Given the description of an element on the screen output the (x, y) to click on. 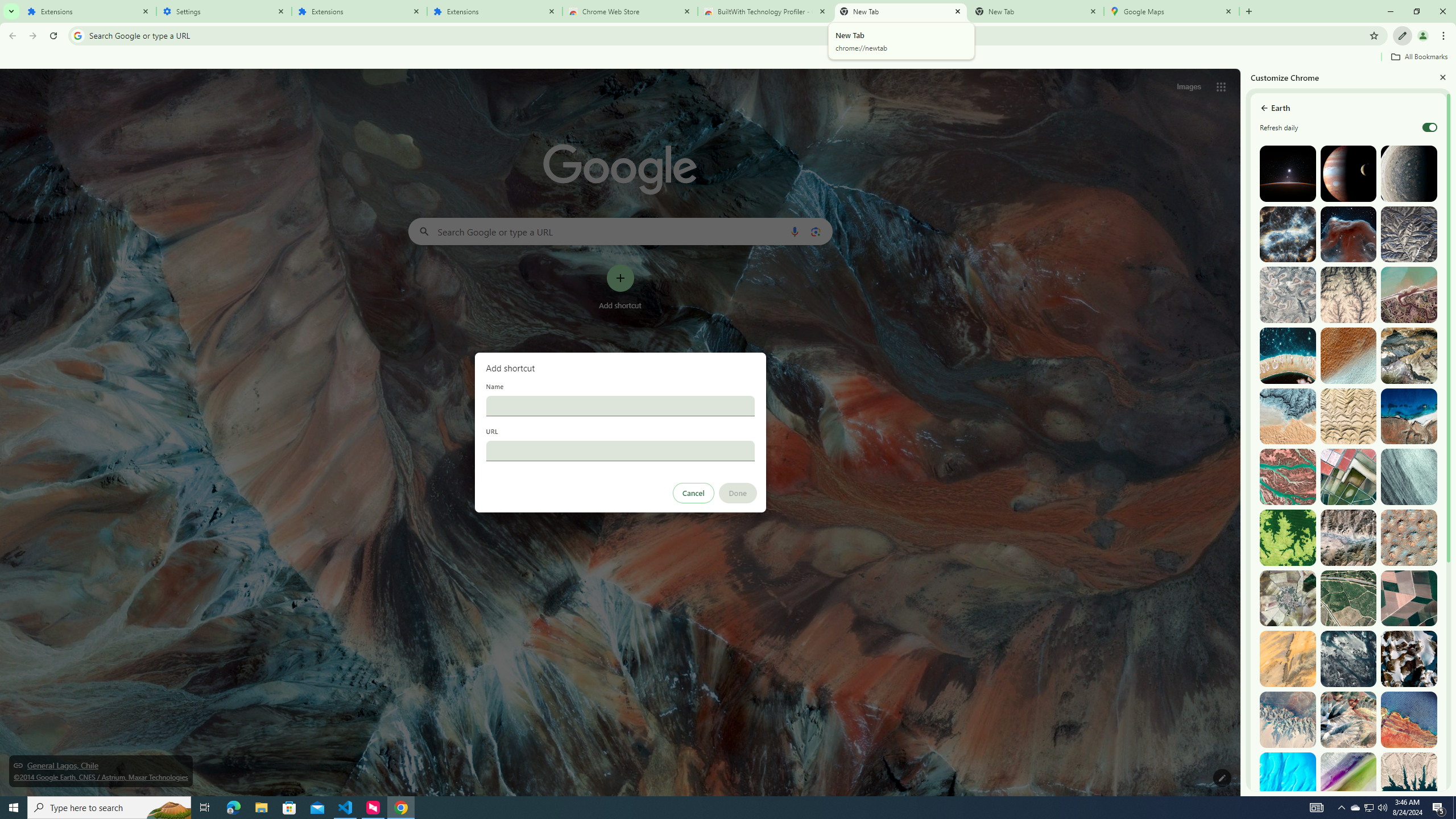
Libya (1408, 719)
Davis County, United States (1348, 780)
Name (620, 405)
Google Maps (1171, 11)
Qesm Al Wahat Ad Dakhlah, Egypt (1287, 719)
Hainan, China (1408, 780)
The Tuamotu and Gambier Islands, French Polynesia (1287, 355)
Kerman, Iran (1348, 416)
Pozoantiguo, Spain (1287, 598)
Ngari, China (1348, 719)
